Given the description of an element on the screen output the (x, y) to click on. 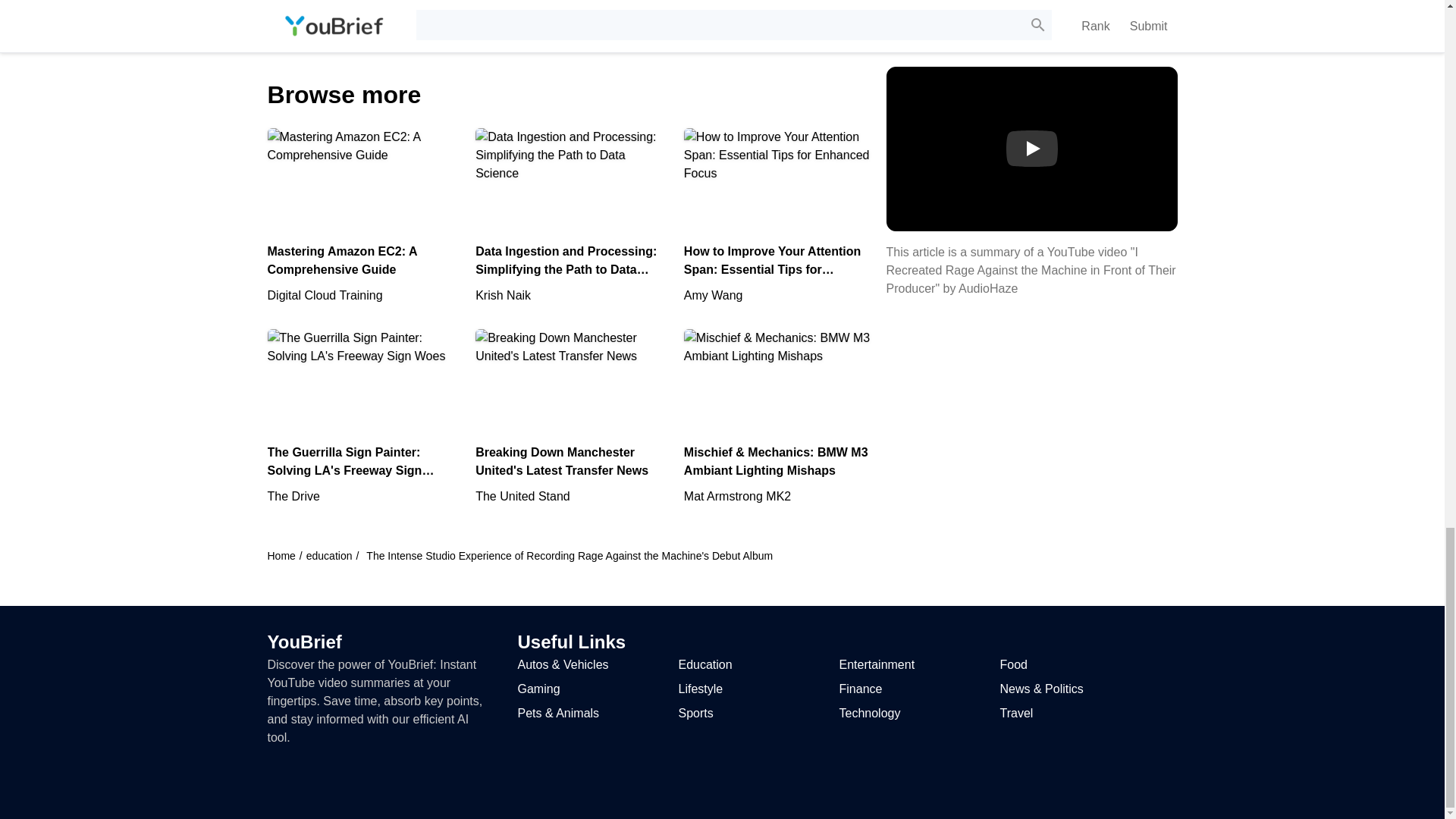
Education (705, 664)
Travel (1015, 712)
Food (1012, 664)
Finance (860, 688)
Gaming (537, 688)
Home (280, 585)
Sports (695, 712)
Lifestyle (700, 688)
Mastering Amazon EC2: A Comprehensive Guide (362, 246)
Breaking Down Manchester United's Latest Transfer News (570, 447)
